Given the description of an element on the screen output the (x, y) to click on. 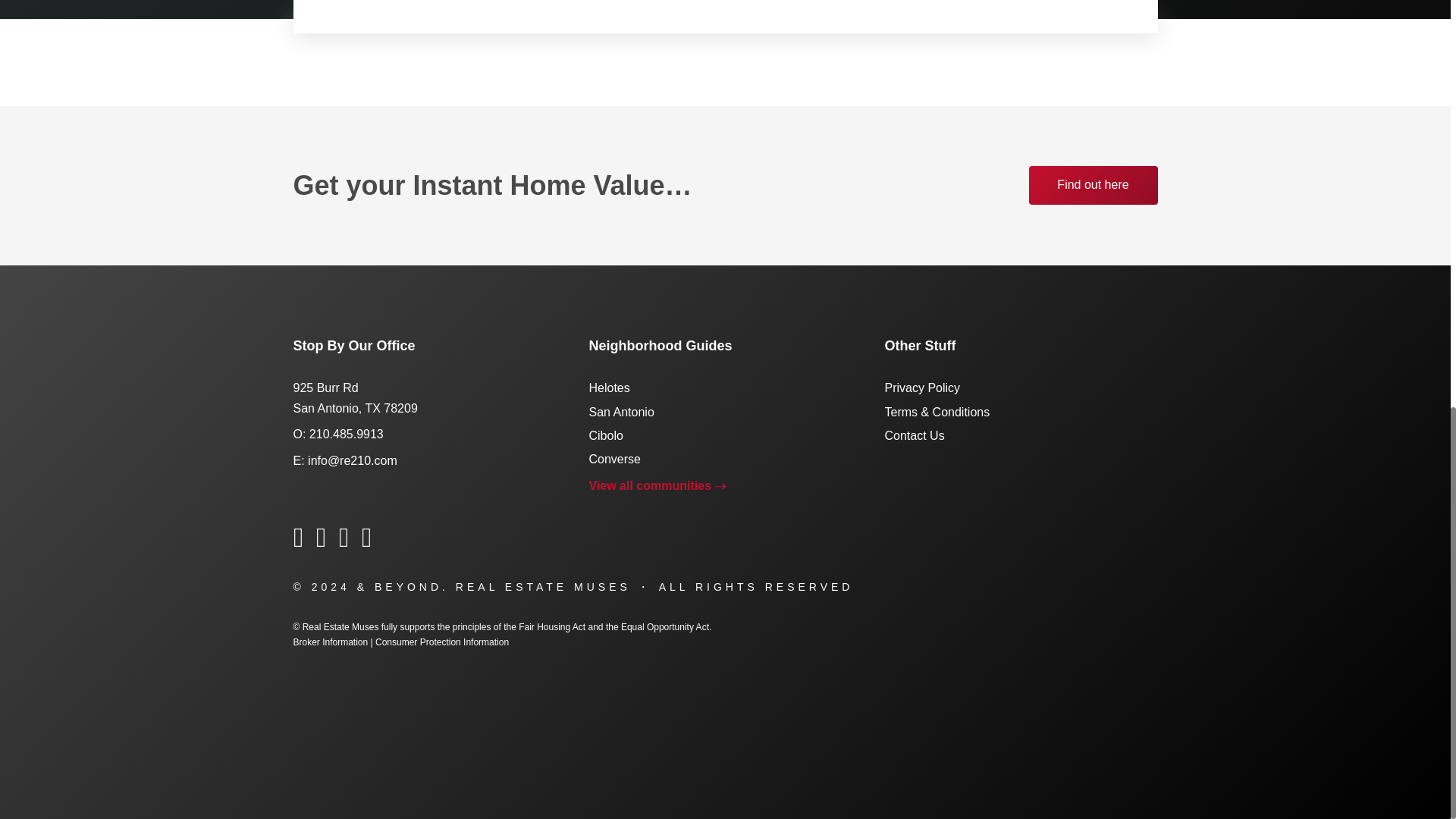
Cibolo (605, 435)
Contact Us (913, 435)
Privacy Policy (921, 387)
San Antonio (620, 411)
Broker Information (330, 642)
210.485.9913 (346, 433)
Converse (614, 459)
Find out here (1092, 185)
Helotes (608, 387)
Consumer Protection Information (441, 642)
